Given the description of an element on the screen output the (x, y) to click on. 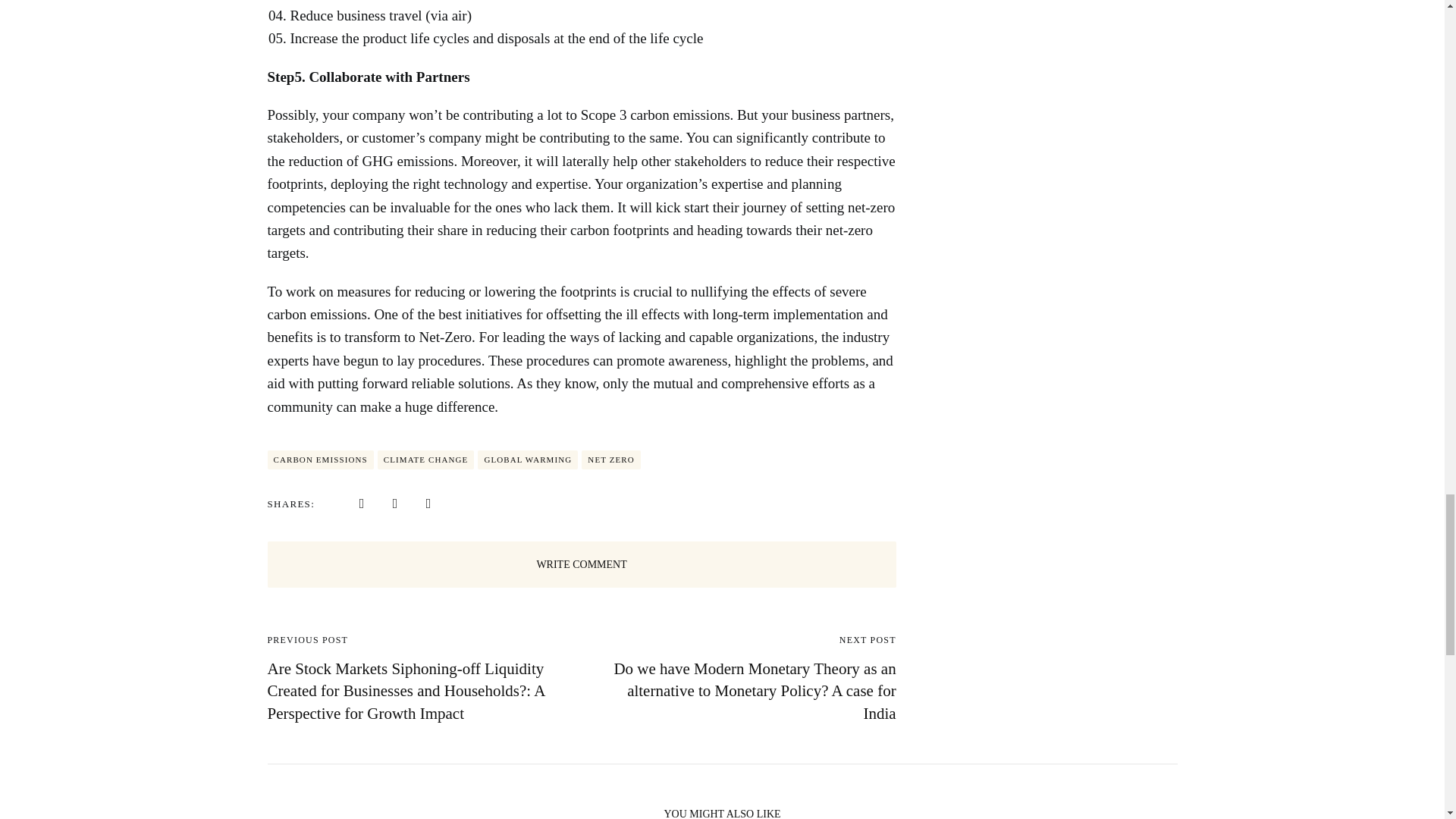
Facebook (361, 502)
CLIMATE CHANGE (425, 459)
Linkedin (394, 502)
Tags (453, 459)
CARBON EMISSIONS (319, 459)
